Given the description of an element on the screen output the (x, y) to click on. 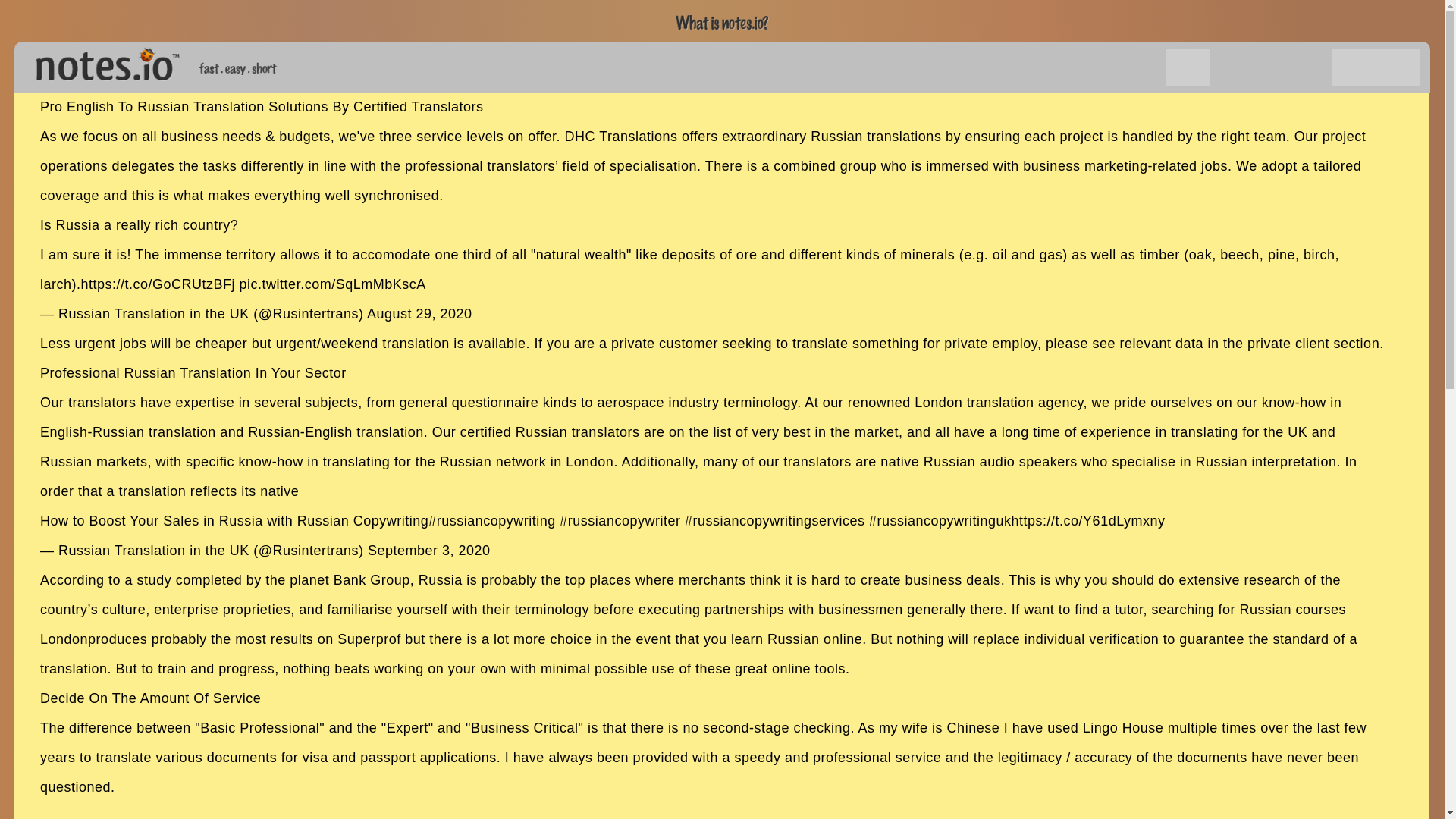
Ux7J (1187, 67)
Fast, easy and short (237, 68)
what is notes.io? (721, 22)
Account (1353, 67)
Account (1398, 67)
Coming soon (1270, 67)
notes (100, 61)
Popular notes (1143, 67)
